Given the description of an element on the screen output the (x, y) to click on. 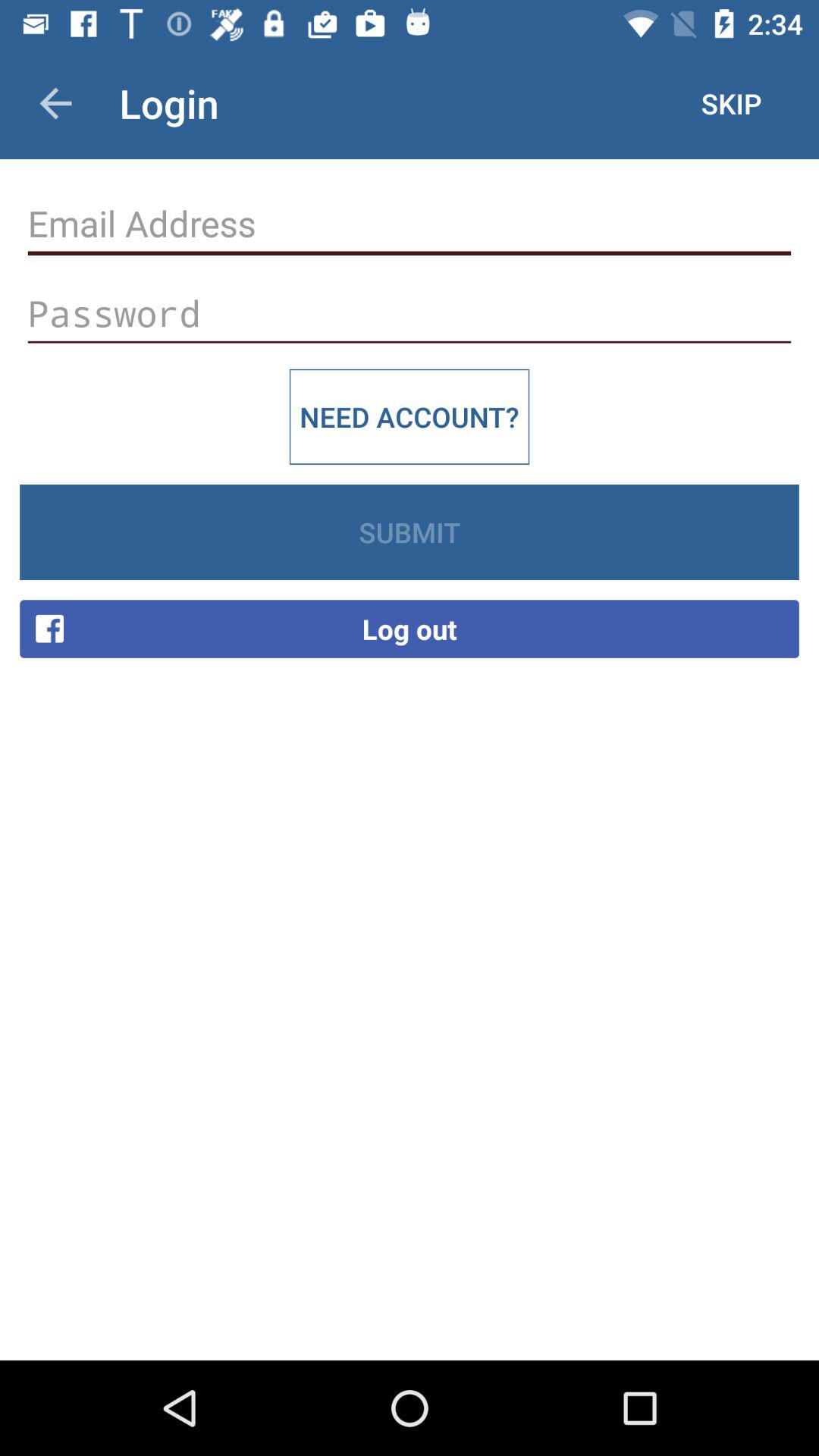
turn off the log out (409, 629)
